Given the description of an element on the screen output the (x, y) to click on. 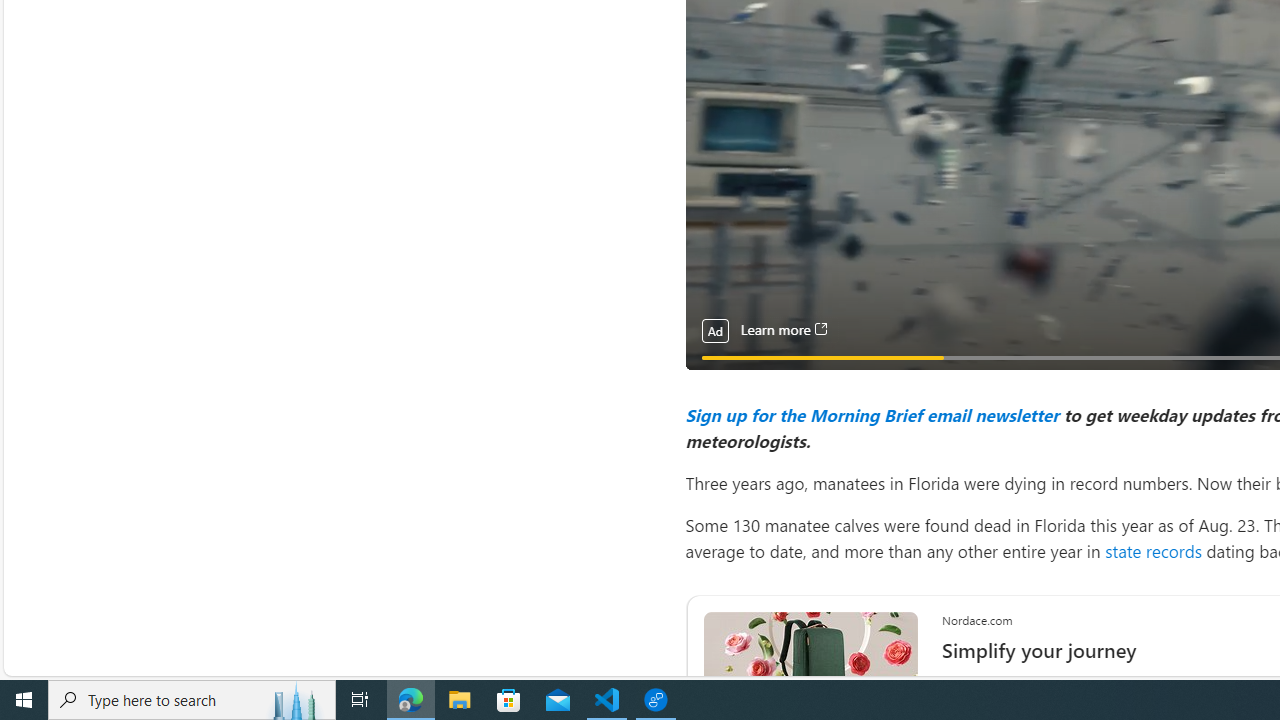
Sign up for the Morning Brief email newsletter (871, 414)
Pause (714, 380)
Learn more (783, 330)
state records (1152, 550)
